Given the description of an element on the screen output the (x, y) to click on. 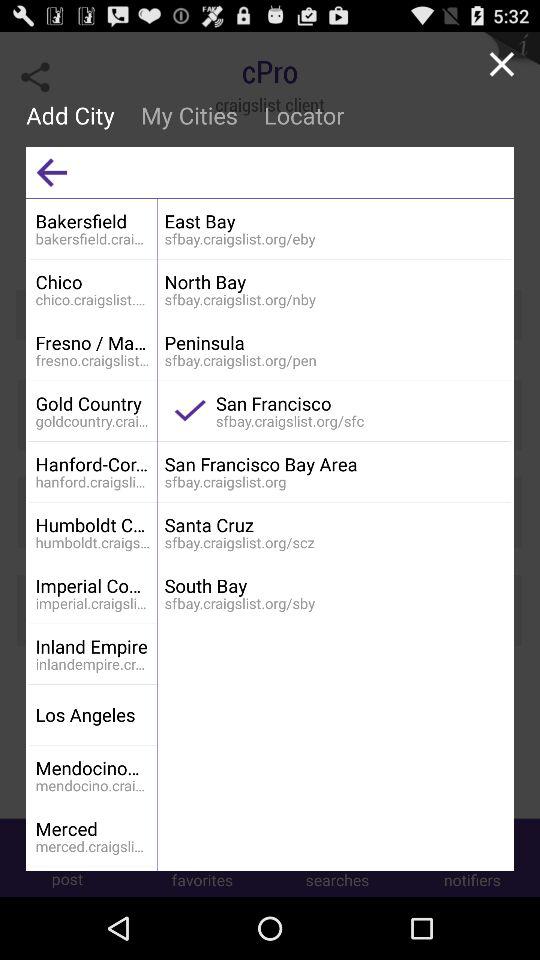
go back (51, 172)
